Given the description of an element on the screen output the (x, y) to click on. 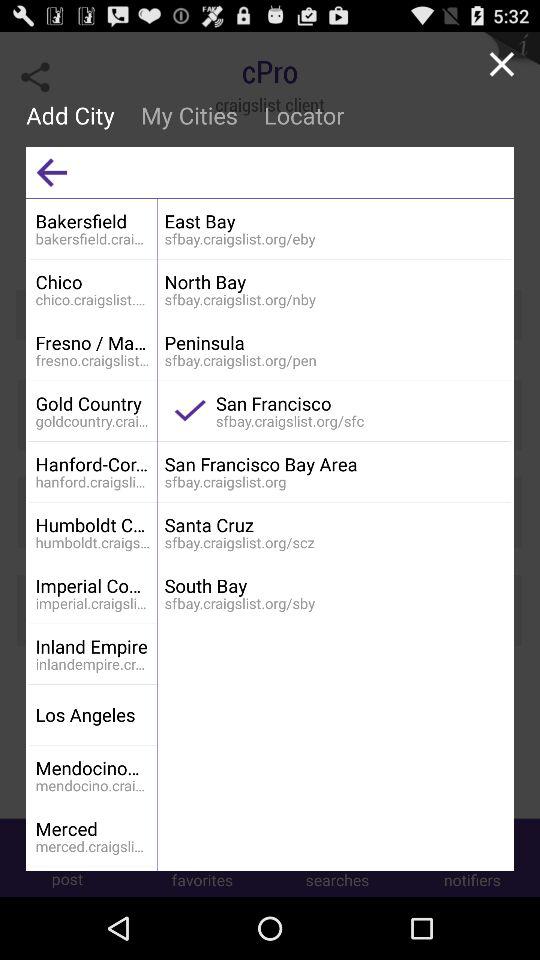
go back (51, 172)
